Given the description of an element on the screen output the (x, y) to click on. 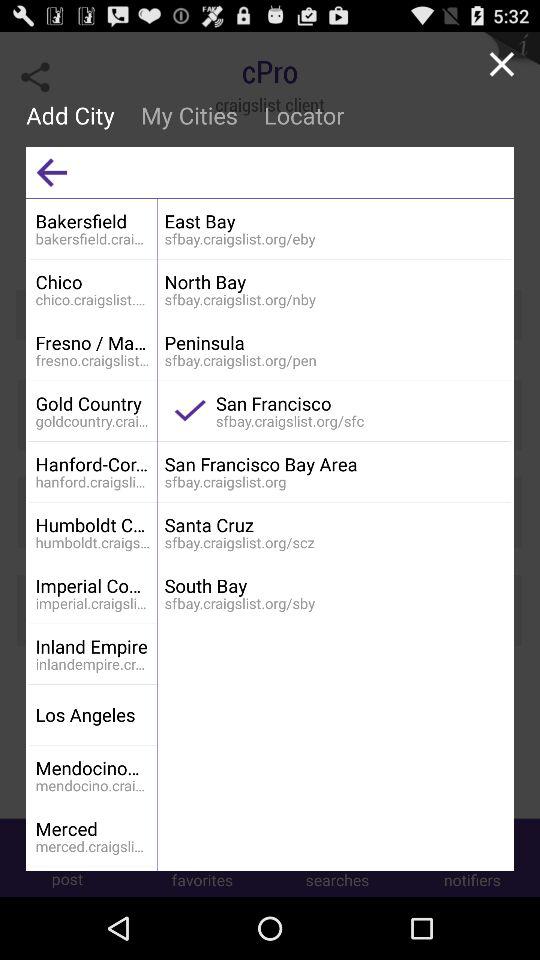
go back (51, 172)
